Given the description of an element on the screen output the (x, y) to click on. 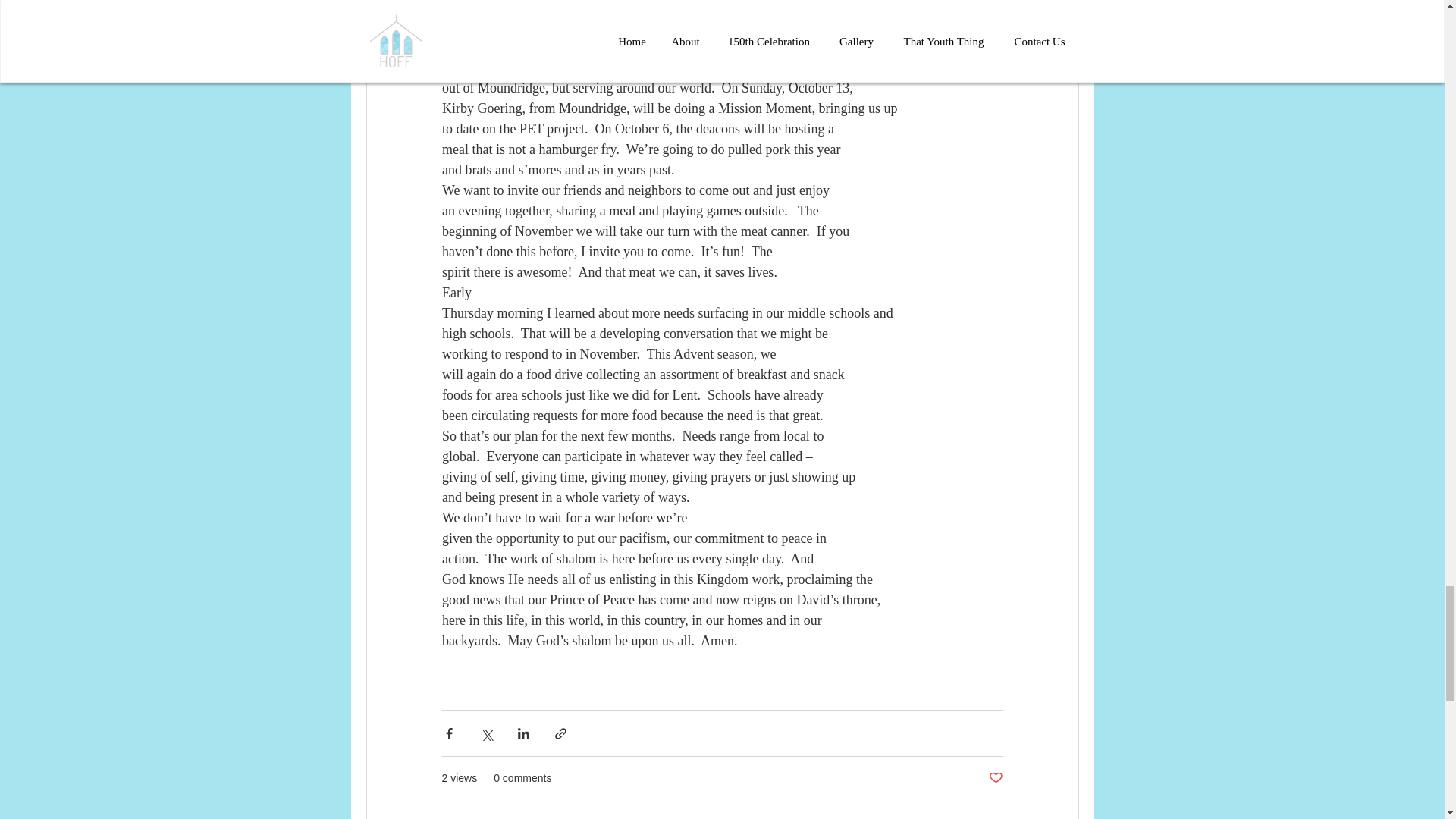
Post not marked as liked (995, 778)
